Given the description of an element on the screen output the (x, y) to click on. 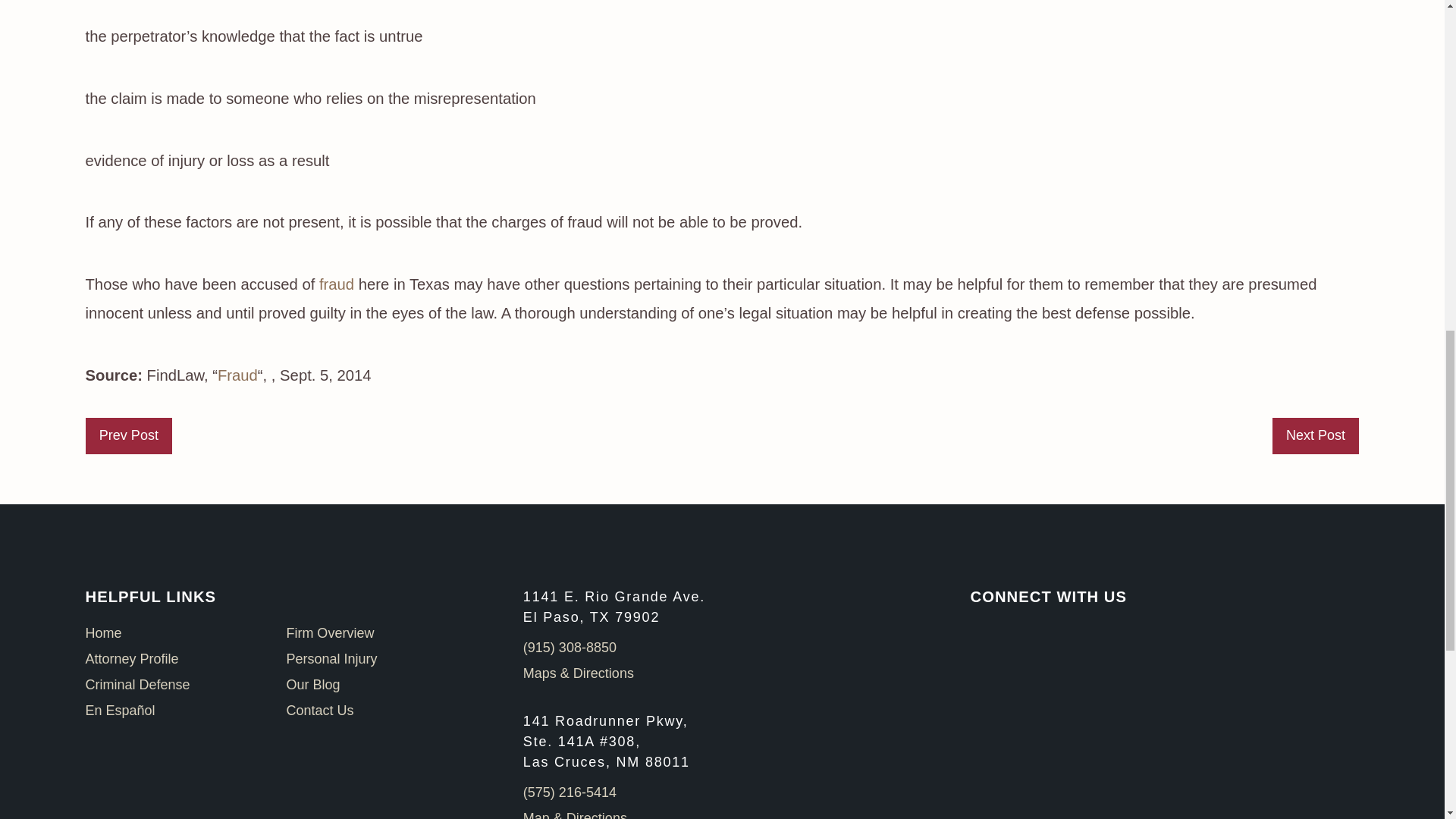
Facebook (1033, 634)
TikTok (1059, 634)
YouTube (977, 634)
Google Business Profile (1005, 634)
